Given the description of an element on the screen output the (x, y) to click on. 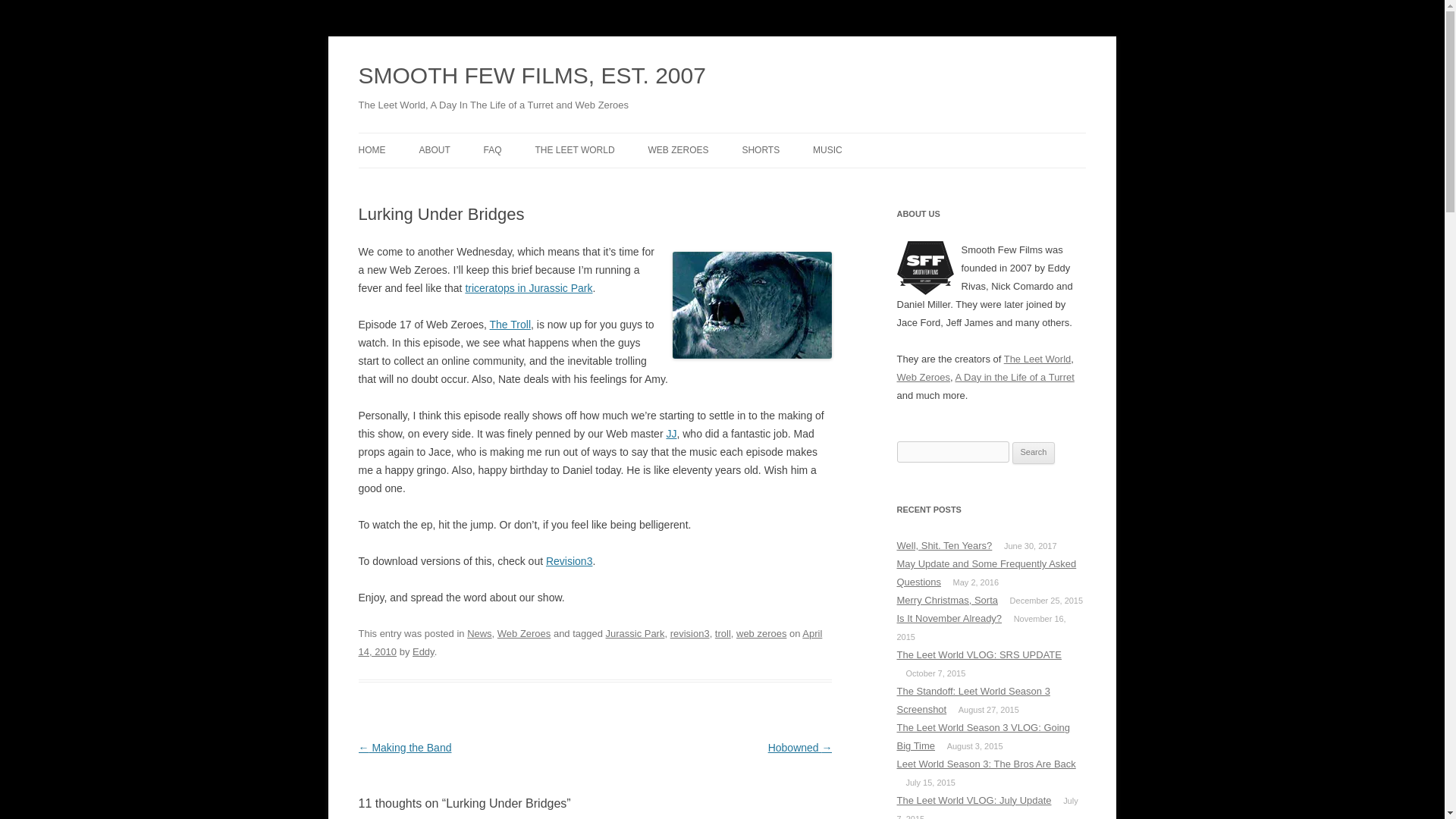
Revision3 (569, 561)
News (479, 633)
SMOOTH FEW FILMS, EST. 2007 (531, 75)
View all posts by Eddy (422, 651)
web zeroes (761, 633)
Search (1033, 452)
5 YEARS LATER (609, 183)
WEB ZEROES (677, 150)
SHORTS (759, 150)
